Given the description of an element on the screen output the (x, y) to click on. 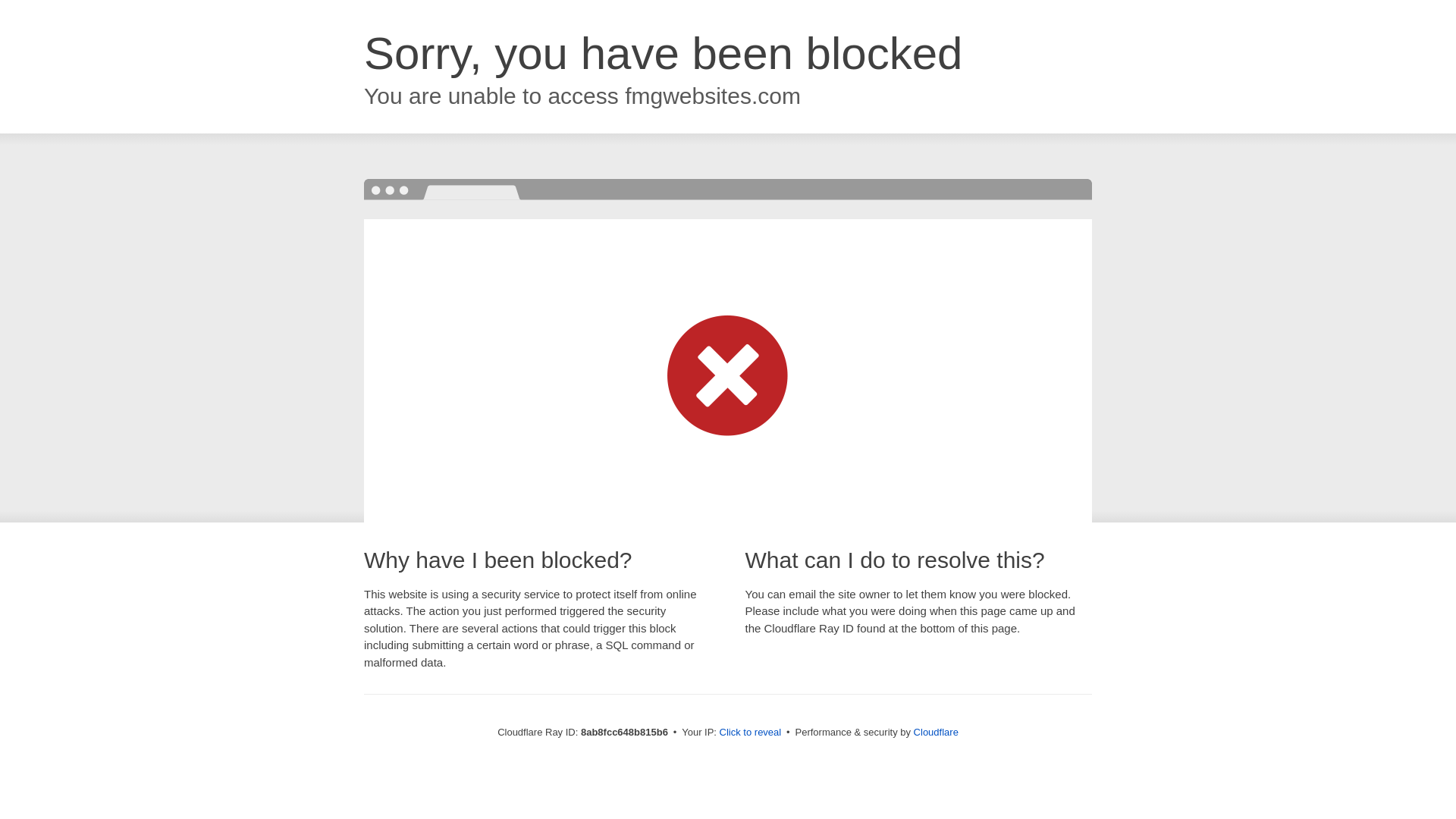
Cloudflare (936, 731)
Click to reveal (750, 732)
